Given the description of an element on the screen output the (x, y) to click on. 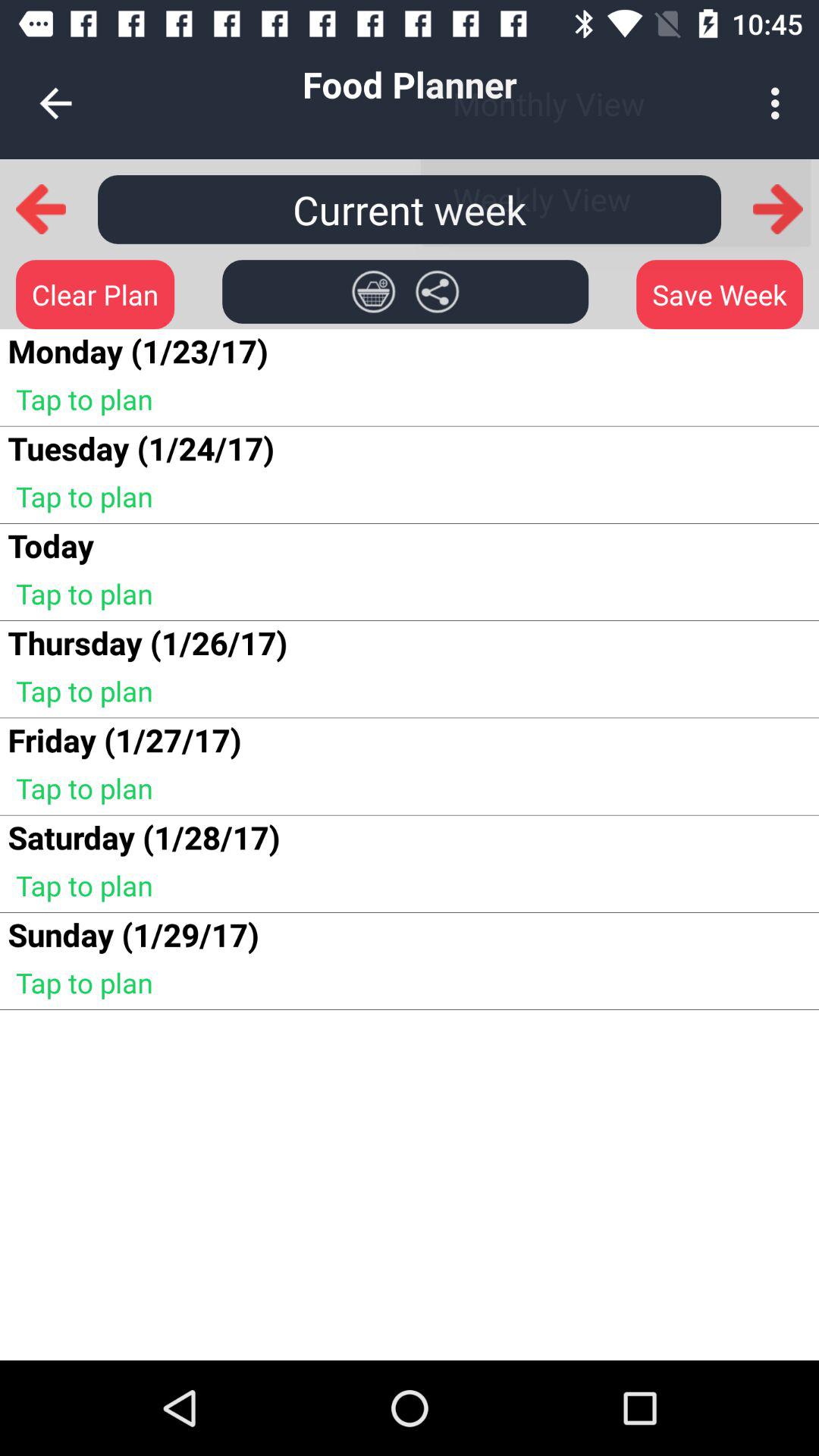
view plan (373, 291)
